Given the description of an element on the screen output the (x, y) to click on. 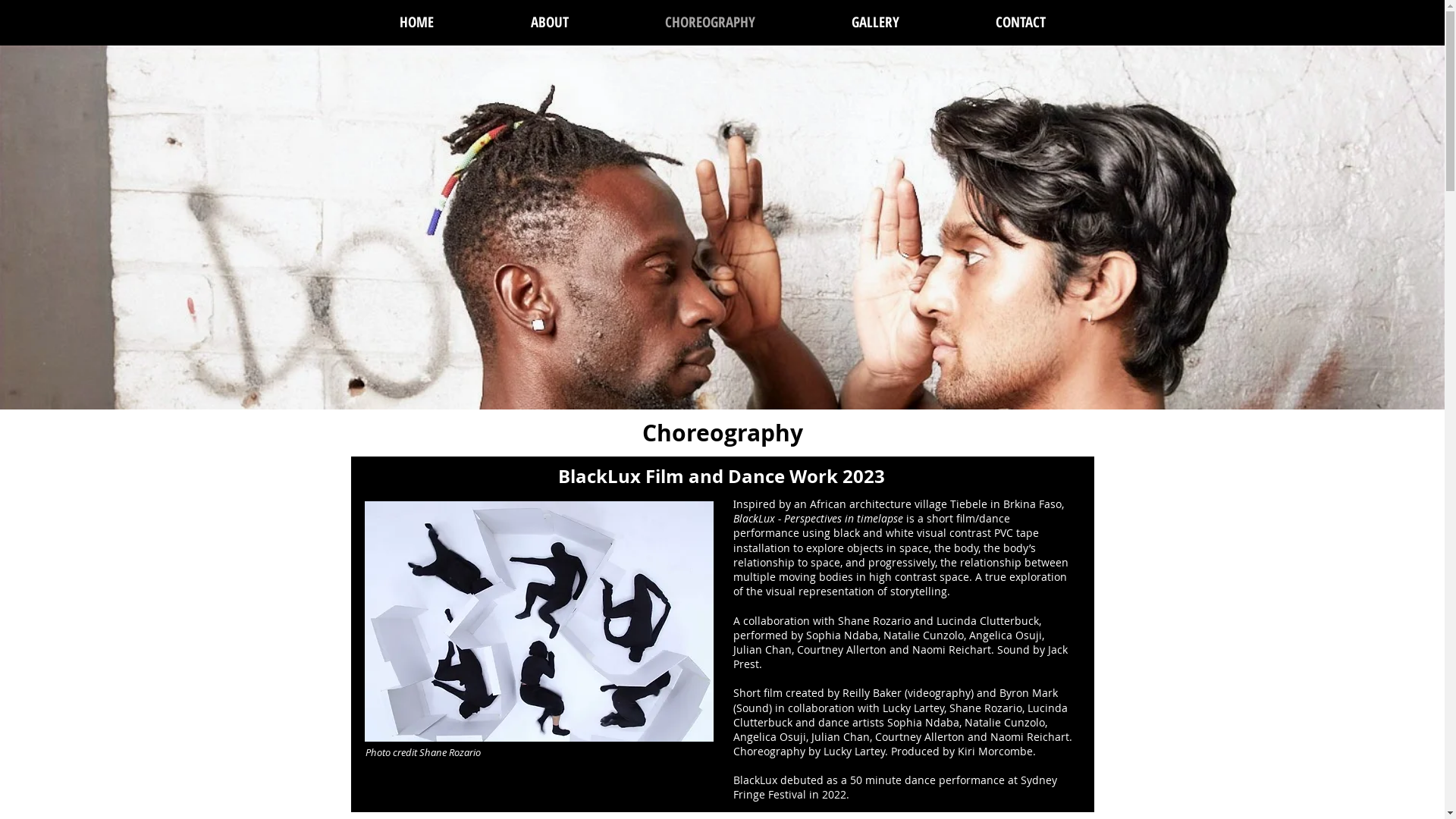
GALLERY Element type: text (875, 22)
CONTACT Element type: text (1020, 22)
CHOREOGRAPHY Element type: text (710, 22)
HOME Element type: text (415, 22)
IMG-9229.jpg Element type: hover (538, 621)
ABOUT Element type: text (549, 22)
